Given the description of an element on the screen output the (x, y) to click on. 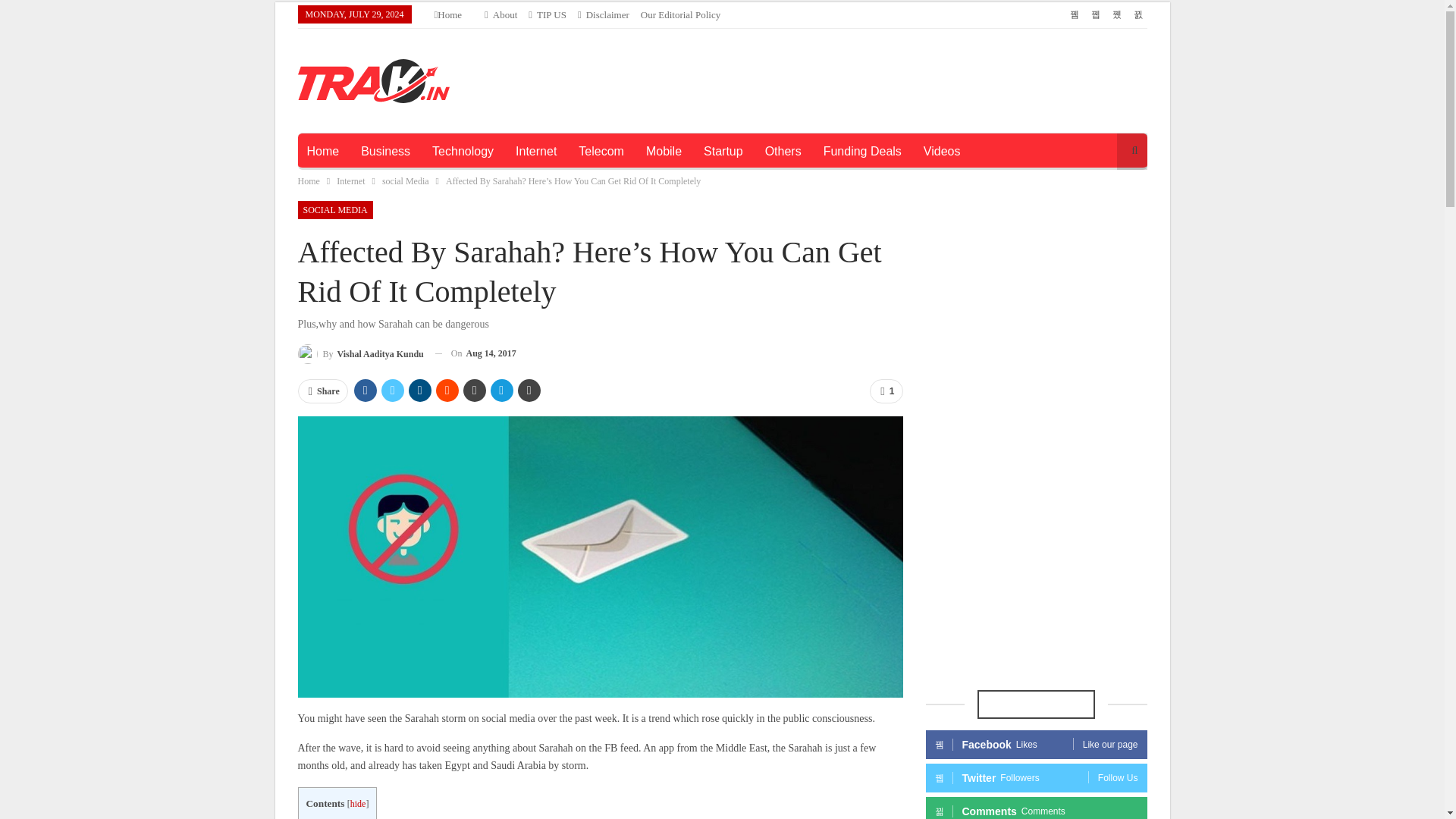
Startup (723, 151)
1 (885, 391)
SOCIAL MEDIA (334, 209)
Advertisement (866, 78)
Home (448, 14)
Videos (941, 151)
About (500, 14)
Home (322, 151)
Browse Author Articles (360, 353)
Get in Touch (547, 14)
Disclaimer (603, 14)
Home (307, 180)
hide (358, 803)
Mobile (663, 151)
